Given the description of an element on the screen output the (x, y) to click on. 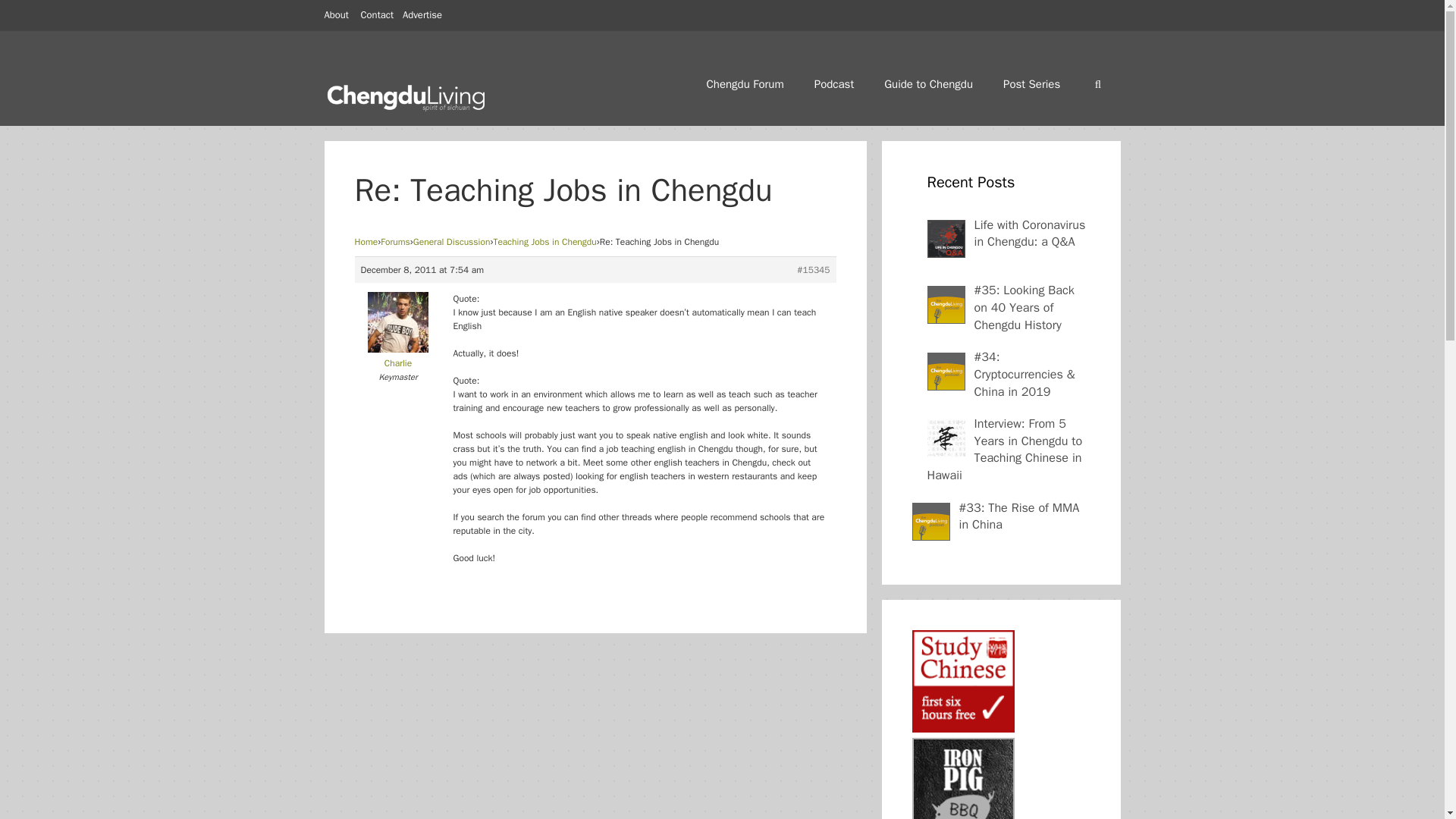
Teaching Jobs in Chengdu (544, 241)
Forums (395, 241)
Podcast (834, 83)
Chengdu Forum (745, 83)
Contact (377, 14)
Post Series (1031, 83)
View Charlie's profile (398, 356)
Chengdu Living (407, 92)
Guide to Chengdu (928, 83)
